Given the description of an element on the screen output the (x, y) to click on. 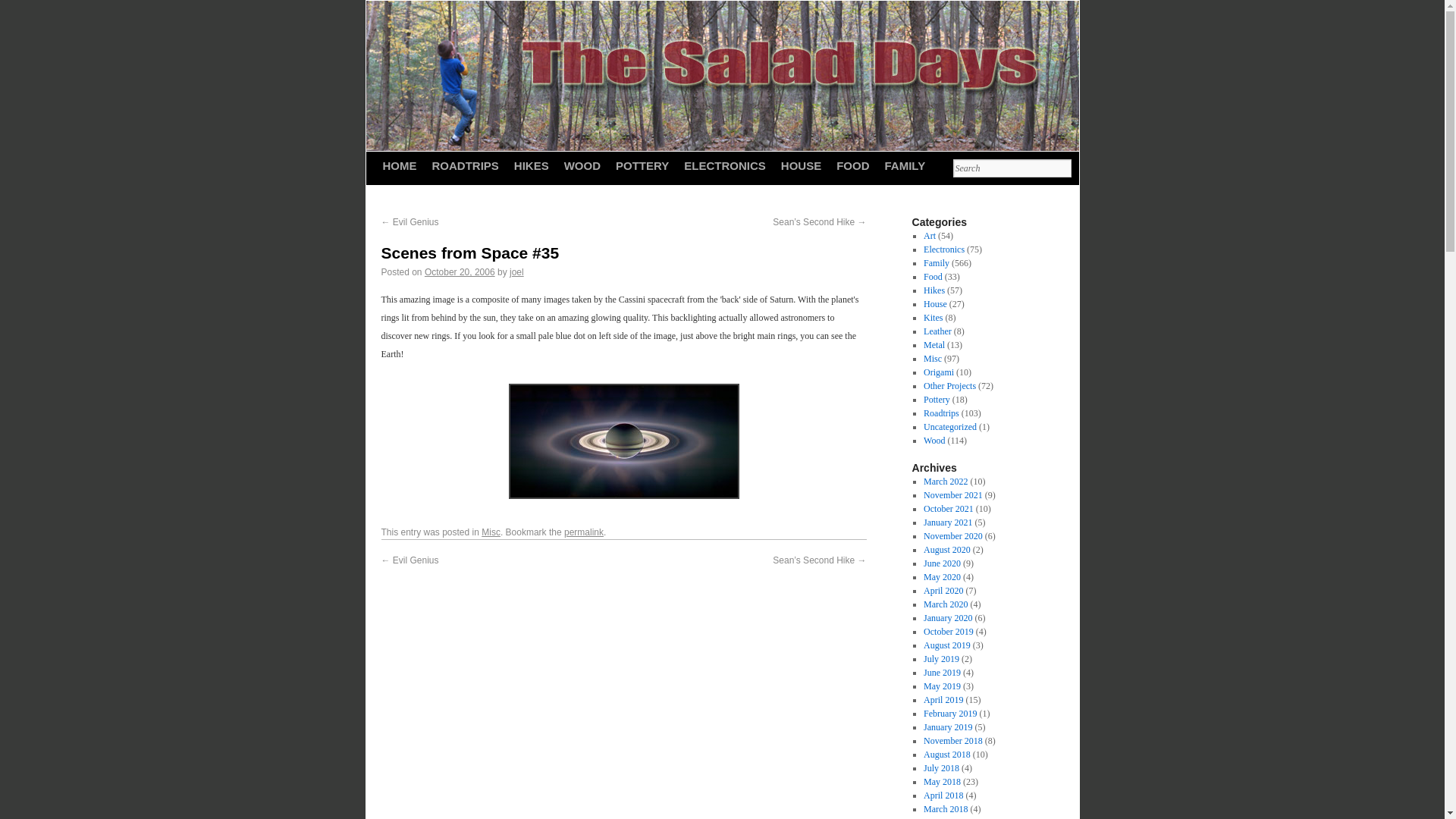
ELECTRONICS (725, 165)
Other Projects (949, 385)
Leather (937, 330)
POTTERY (642, 165)
HOME (398, 165)
Wood (933, 439)
Food (932, 276)
November 2021 (952, 494)
Search (1011, 167)
FOOD (852, 165)
October 20, 2006 (460, 271)
Origami (938, 371)
Metal (933, 344)
View all posts by joel (516, 271)
Electronics (943, 249)
